Given the description of an element on the screen output the (x, y) to click on. 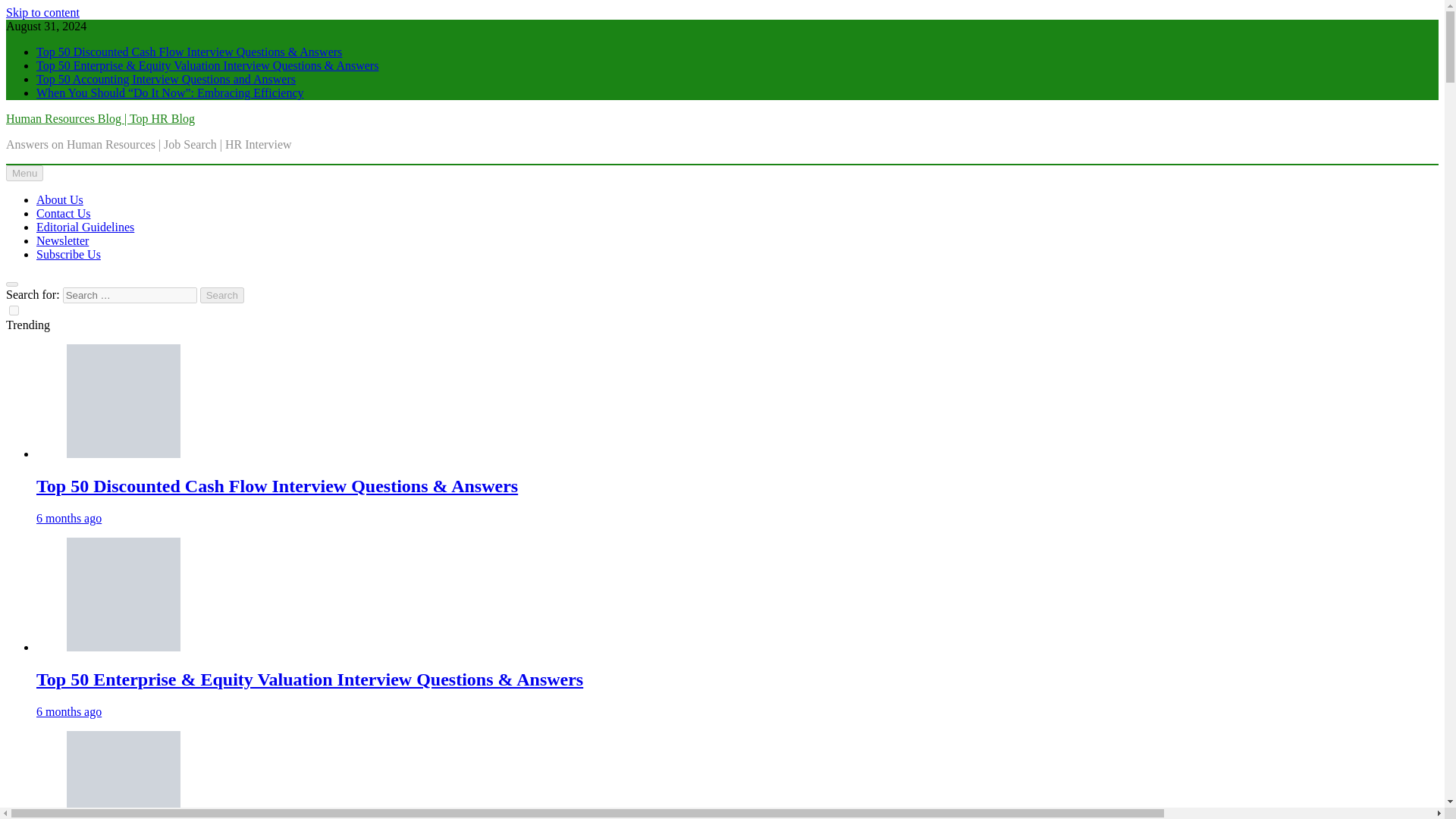
Newsletter (62, 240)
Search (222, 295)
6 months ago (68, 711)
Top 50 Accounting Interview Questions and Answers (165, 78)
Skip to content (42, 11)
Editorial Guidelines (84, 226)
on (13, 310)
Menu (24, 172)
Top 50 Accounting Interview Questions and Answers (123, 775)
Top 50 Accounting Interview Questions and Answers (165, 78)
